Given the description of an element on the screen output the (x, y) to click on. 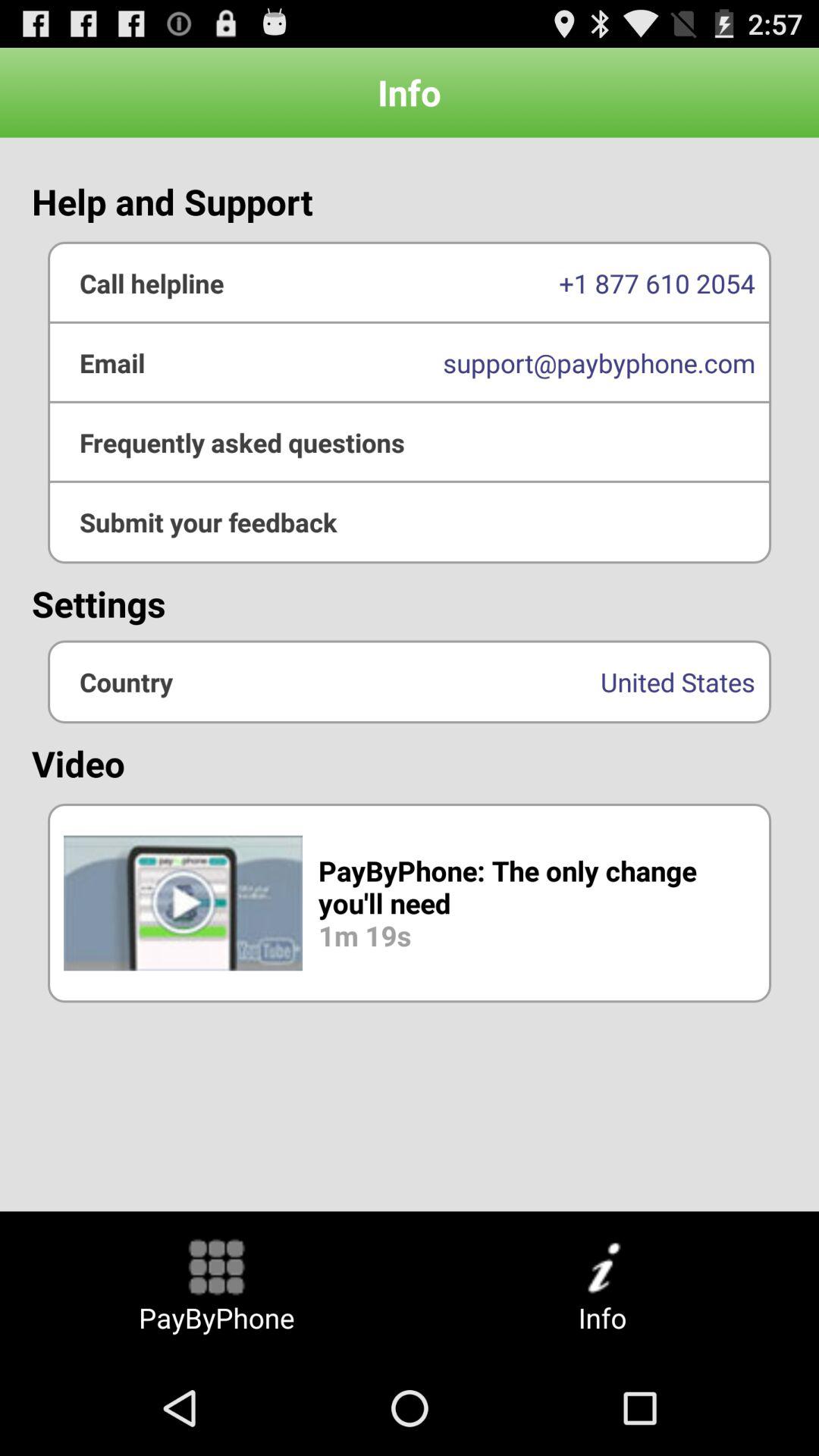
submit feedback (409, 521)
